Given the description of an element on the screen output the (x, y) to click on. 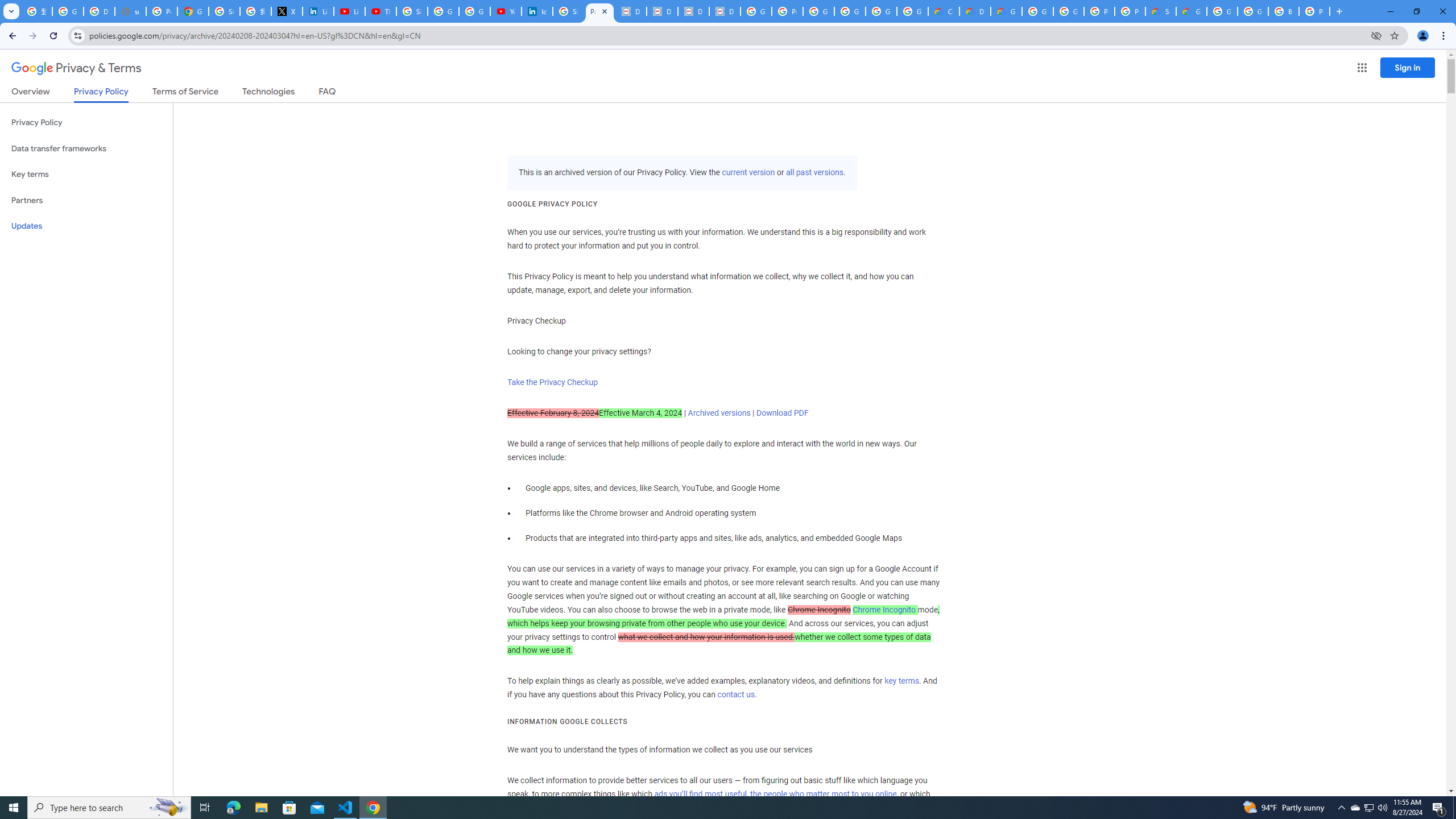
Support Hub | Google Cloud (1160, 11)
Archived versions (719, 412)
Data Privacy Framework (631, 11)
LinkedIn Privacy Policy (318, 11)
Data Privacy Framework (693, 11)
Take the Privacy Checkup (552, 381)
